Given the description of an element on the screen output the (x, y) to click on. 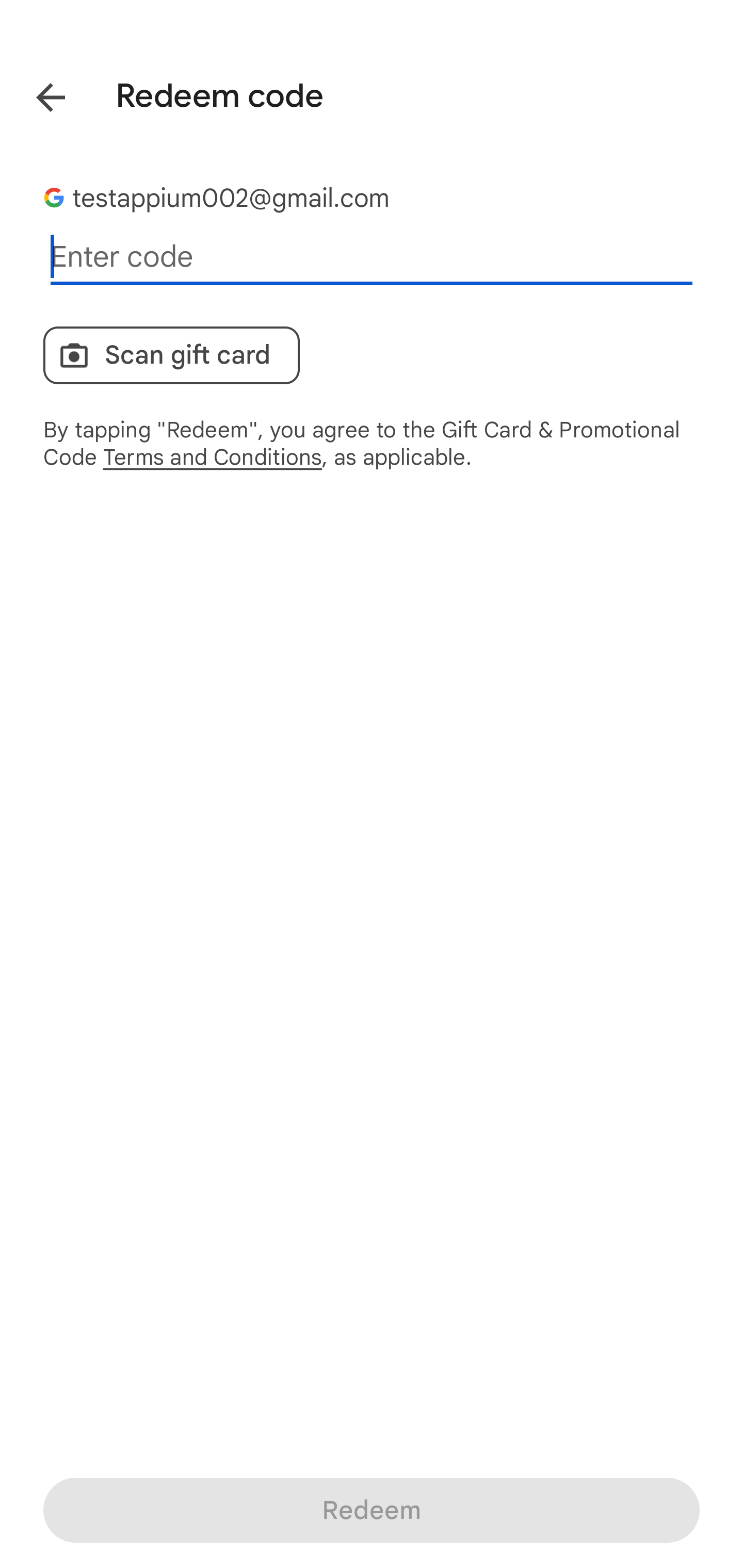
Back (36, 94)
Enter code (371, 256)
Scan gift card (171, 355)
